Given the description of an element on the screen output the (x, y) to click on. 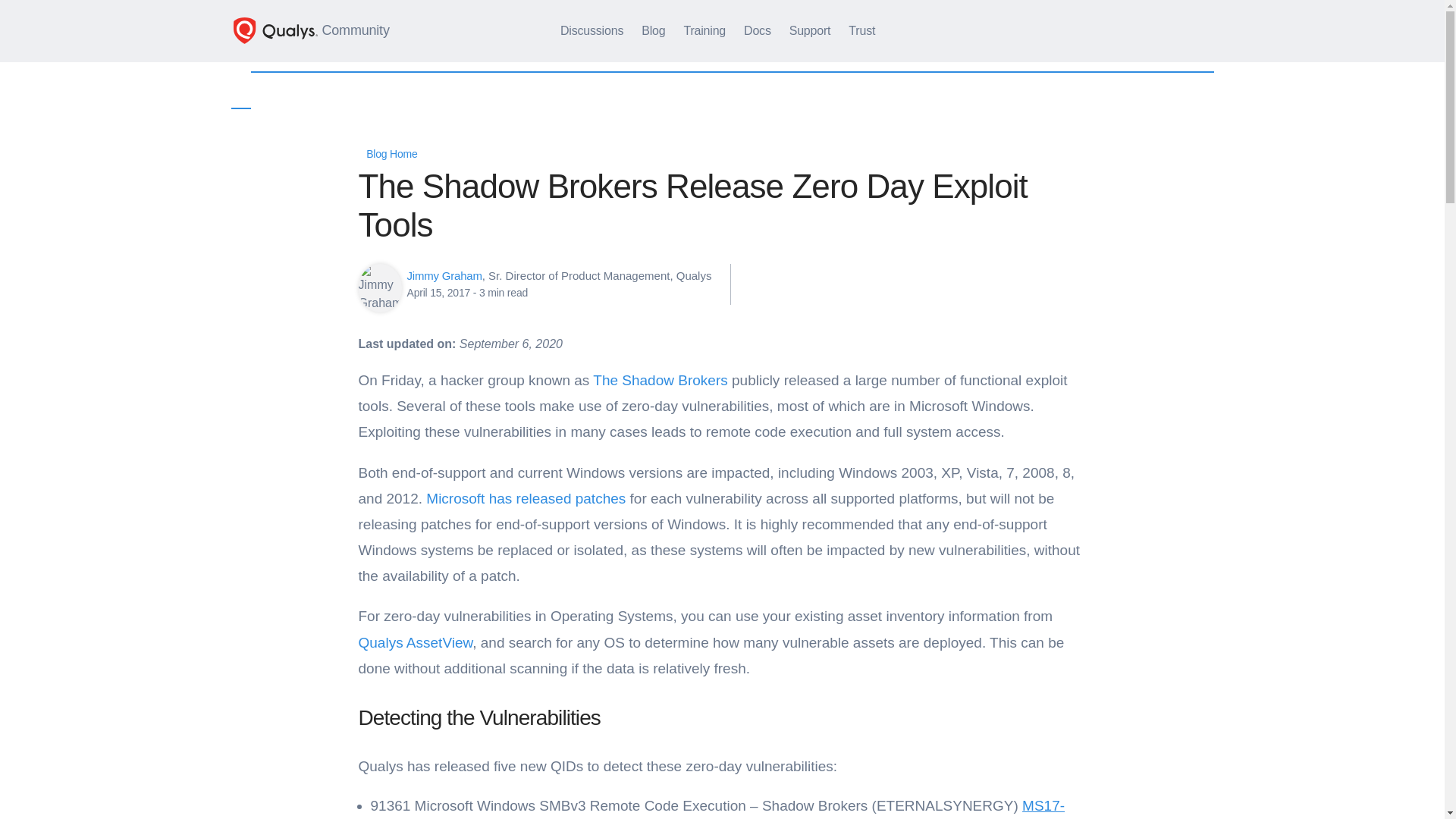
Community (311, 30)
Training (704, 31)
Qualys AssetView (414, 642)
Support (810, 31)
Microsoft has released patches (526, 498)
Discussions (591, 31)
Blog Home (387, 153)
Docs (757, 31)
The Shadow Brokers (659, 380)
Trust (861, 31)
Blog (652, 31)
MS17-010 (716, 808)
April 15, 2017 (438, 292)
Jimmy Graham (443, 275)
Qualys Community (311, 30)
